Given the description of an element on the screen output the (x, y) to click on. 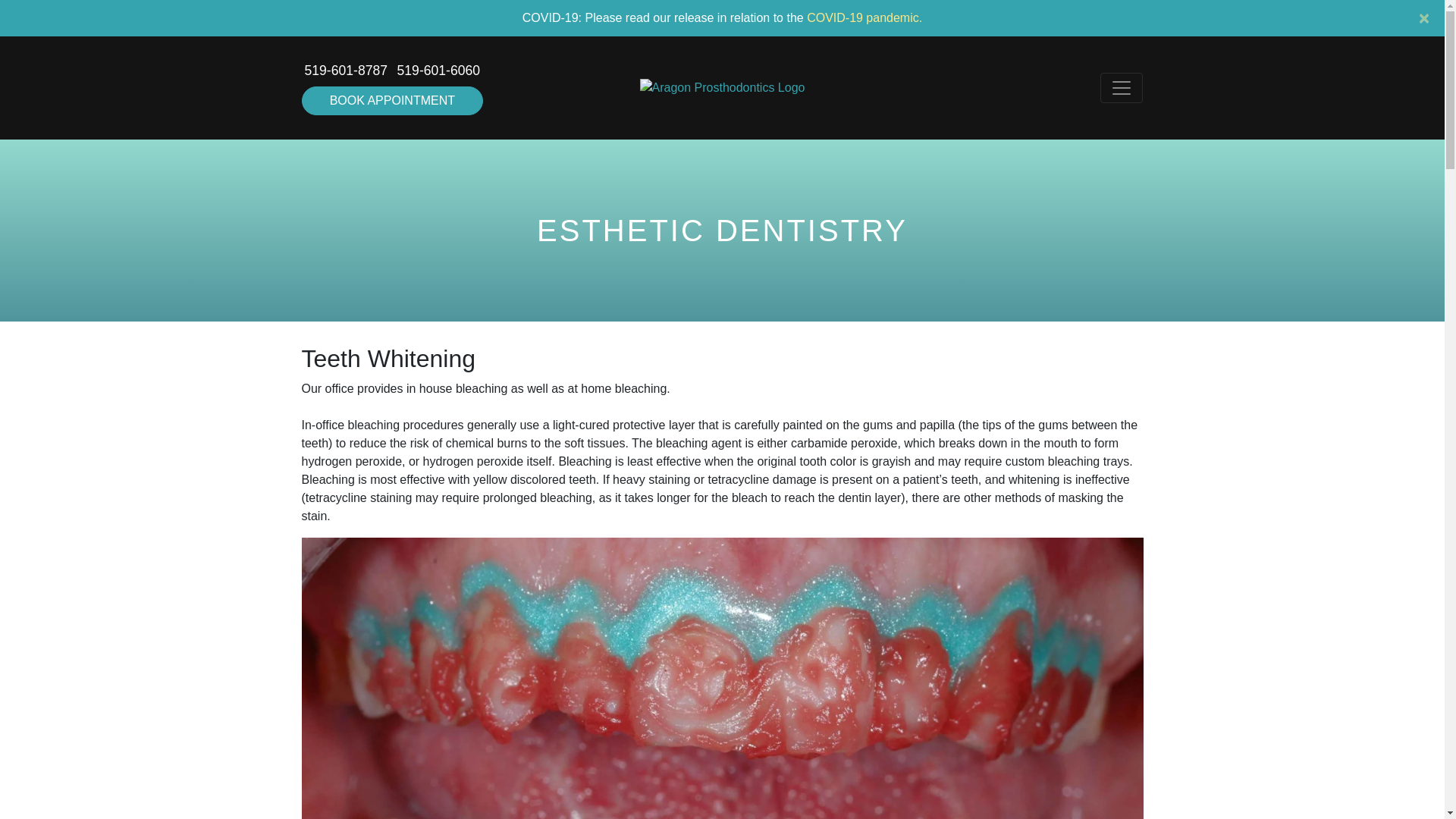
COVID-19 pandemic. (863, 17)
519-601-6060 (438, 70)
519-601-8787 (346, 70)
BOOK APPOINTMENT (392, 100)
